Given the description of an element on the screen output the (x, y) to click on. 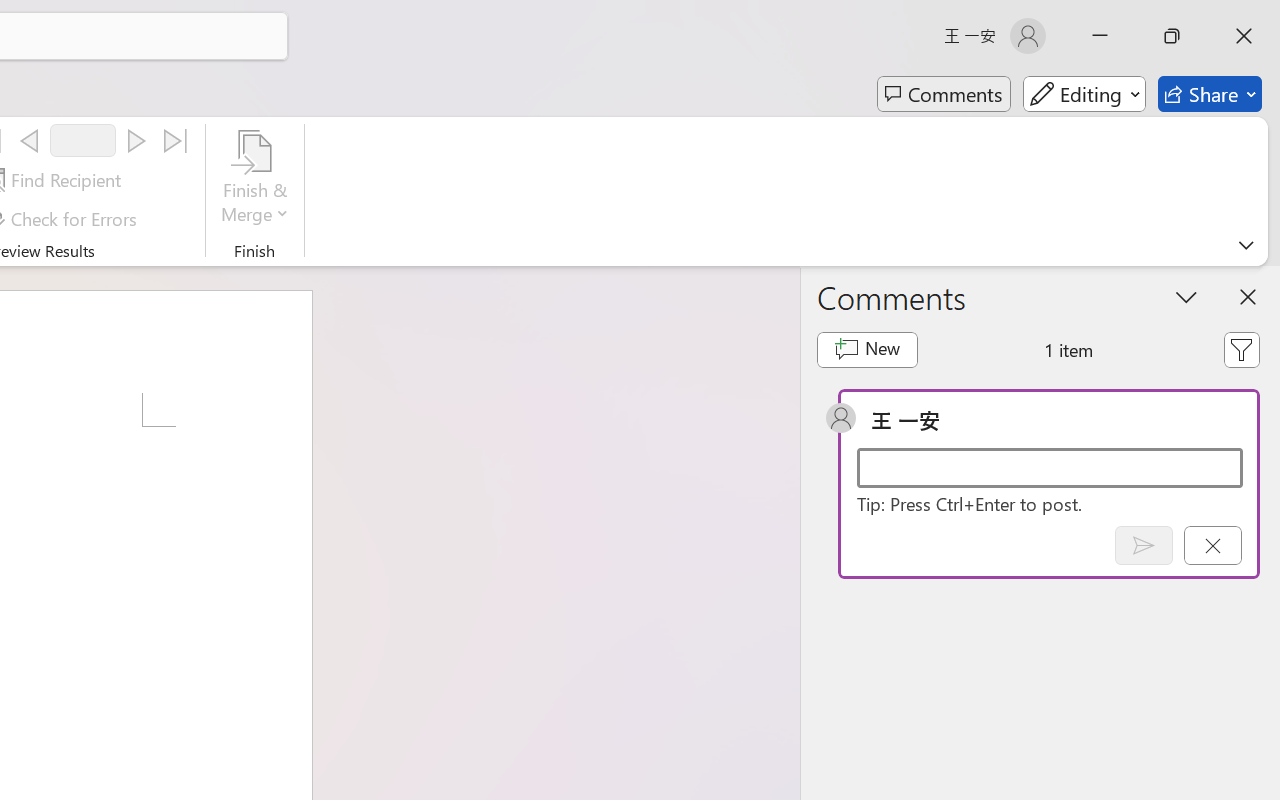
New comment (866, 350)
Cancel (1212, 545)
Record (83, 140)
Previous (29, 141)
Filter (1241, 350)
Finish & Merge (255, 179)
Post comment (Ctrl + Enter) (1143, 545)
Start a conversation (1050, 467)
